Given the description of an element on the screen output the (x, y) to click on. 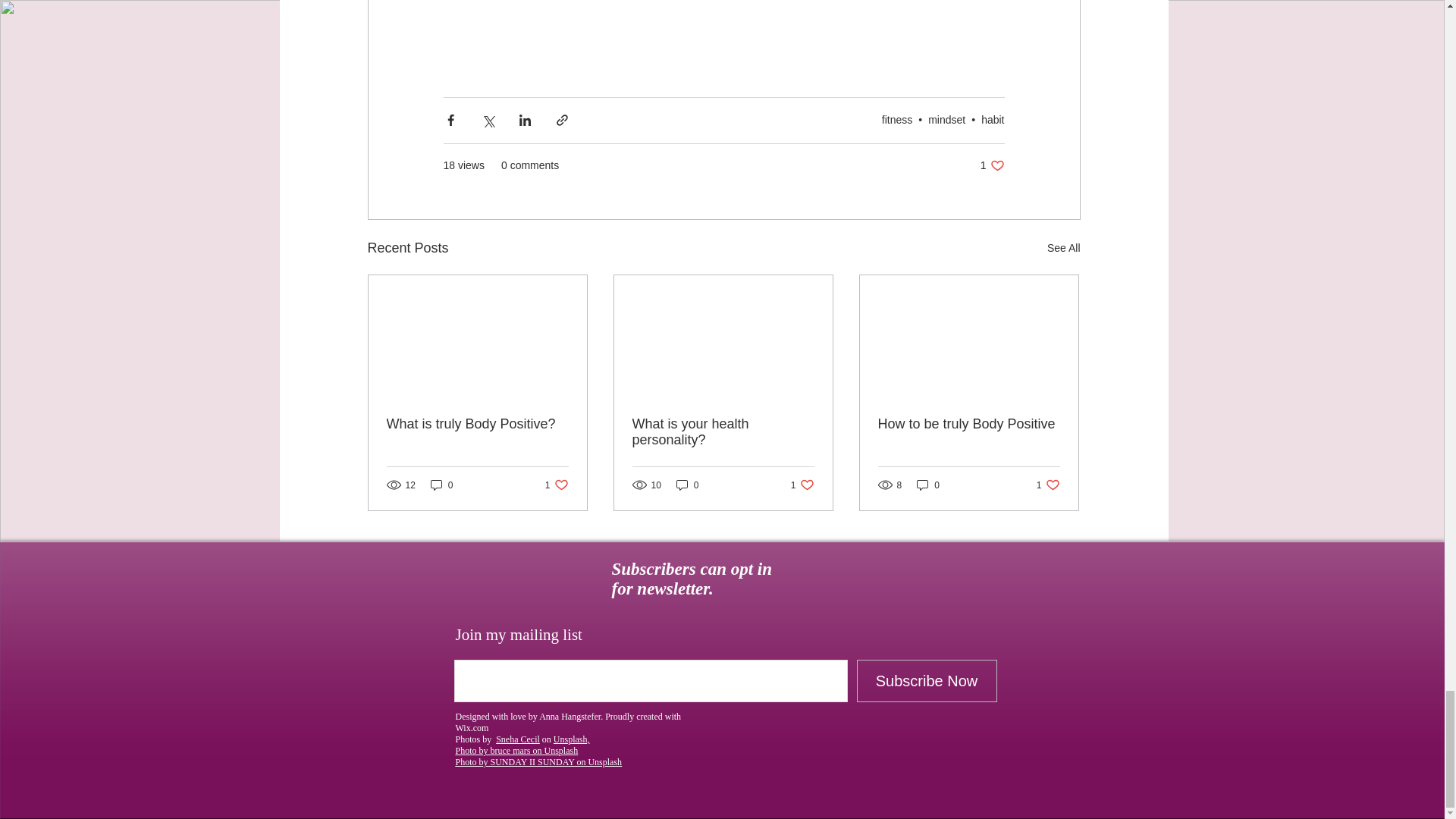
See All (556, 484)
What is truly Body Positive? (1063, 248)
0 (478, 424)
mindset (441, 484)
habit (946, 119)
fitness (992, 119)
